Given the description of an element on the screen output the (x, y) to click on. 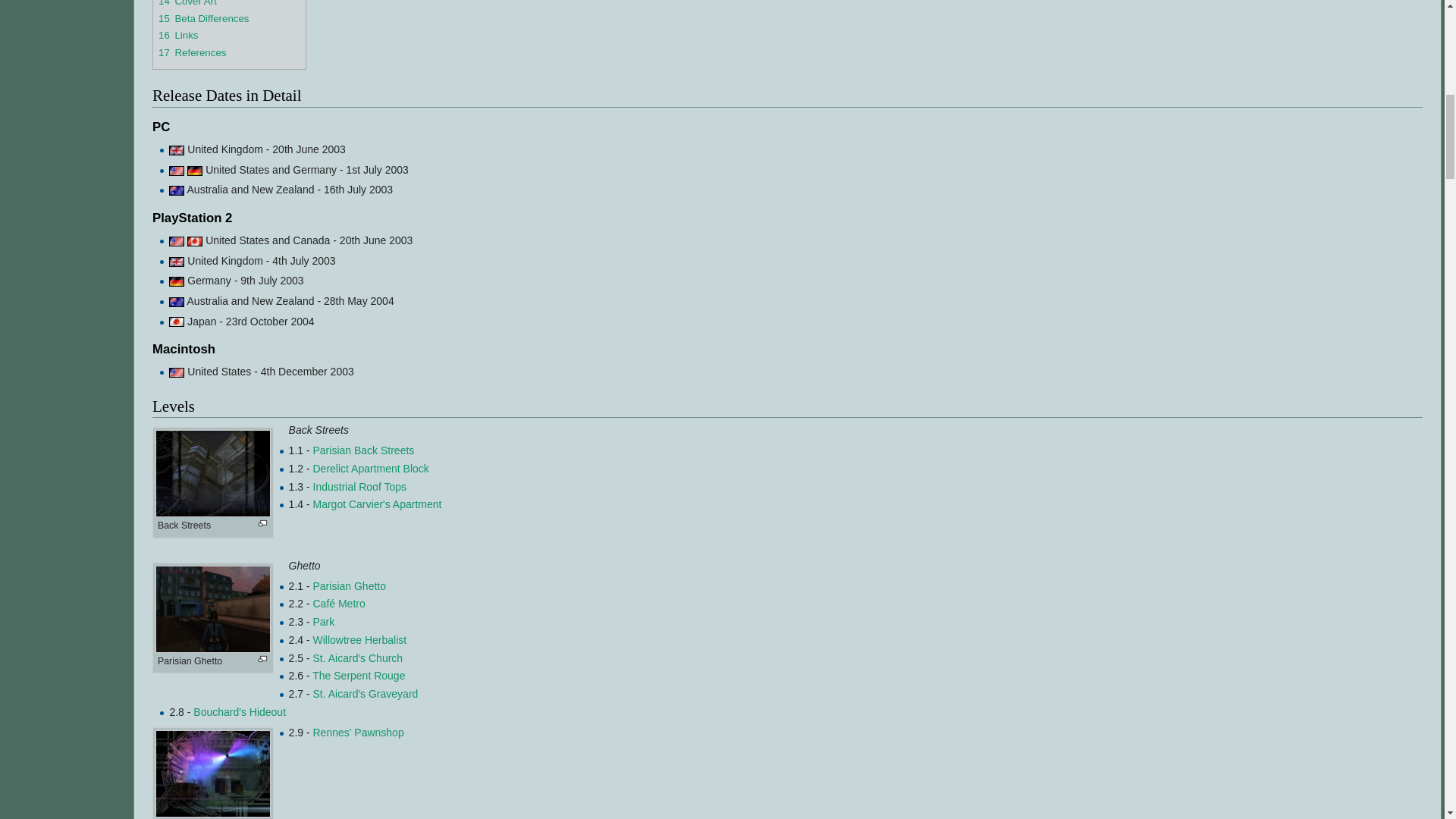
Derelict Apartment Block (370, 468)
Parisian Back Streets (363, 450)
Enlarge (262, 523)
